Given the description of an element on the screen output the (x, y) to click on. 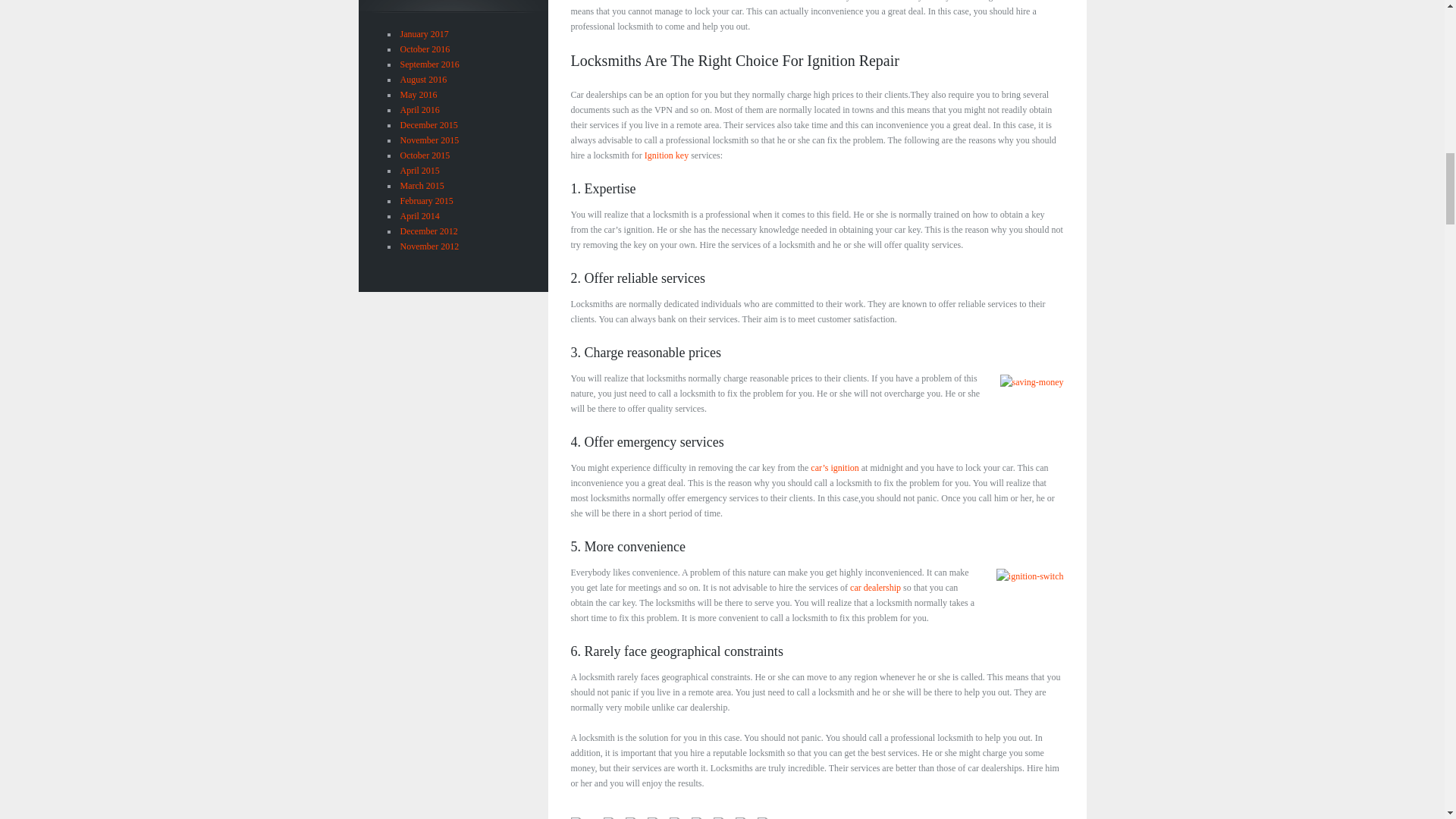
Ignition key (666, 154)
Linkedin (658, 816)
StumbleUpon (680, 816)
Twitter (615, 816)
Reddit (724, 816)
Delicious (767, 816)
car dealership (875, 587)
Digg (702, 816)
Bebo (746, 816)
Facebook (636, 816)
